Given the description of an element on the screen output the (x, y) to click on. 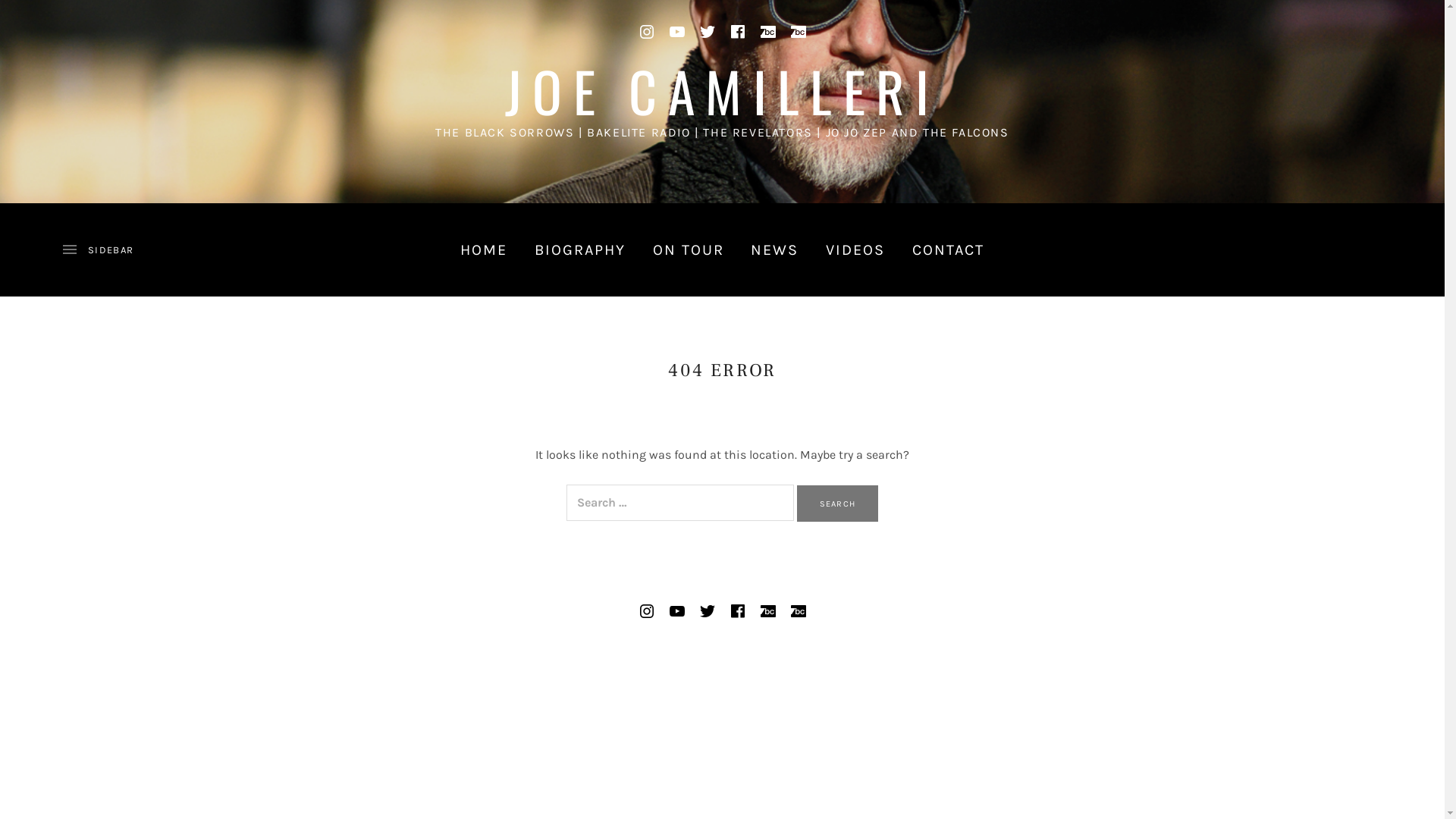
YouTube Element type: text (676, 611)
Twitter Element type: text (706, 31)
Instagram Element type: text (646, 611)
NEWS Element type: text (774, 249)
Bandcamp Bakelite Radio Element type: text (767, 31)
YouTube Element type: text (676, 31)
ON TOUR Element type: text (687, 249)
BIOGRAPHY Element type: text (580, 249)
Facebook Element type: text (737, 31)
Instagram Element type: text (646, 31)
JOE CAMILLERI Element type: text (722, 90)
Facebook Element type: text (737, 611)
CONTACT Element type: text (948, 249)
Bandcamp The Black Sorrows Element type: text (797, 611)
VIDEOS Element type: text (855, 249)
Search Element type: text (837, 503)
HOME Element type: text (483, 249)
Bandcamp The Black Sorrows Element type: text (797, 31)
Bandcamp Bakelite Radio Element type: text (767, 611)
Twitter Element type: text (706, 611)
